Given the description of an element on the screen output the (x, y) to click on. 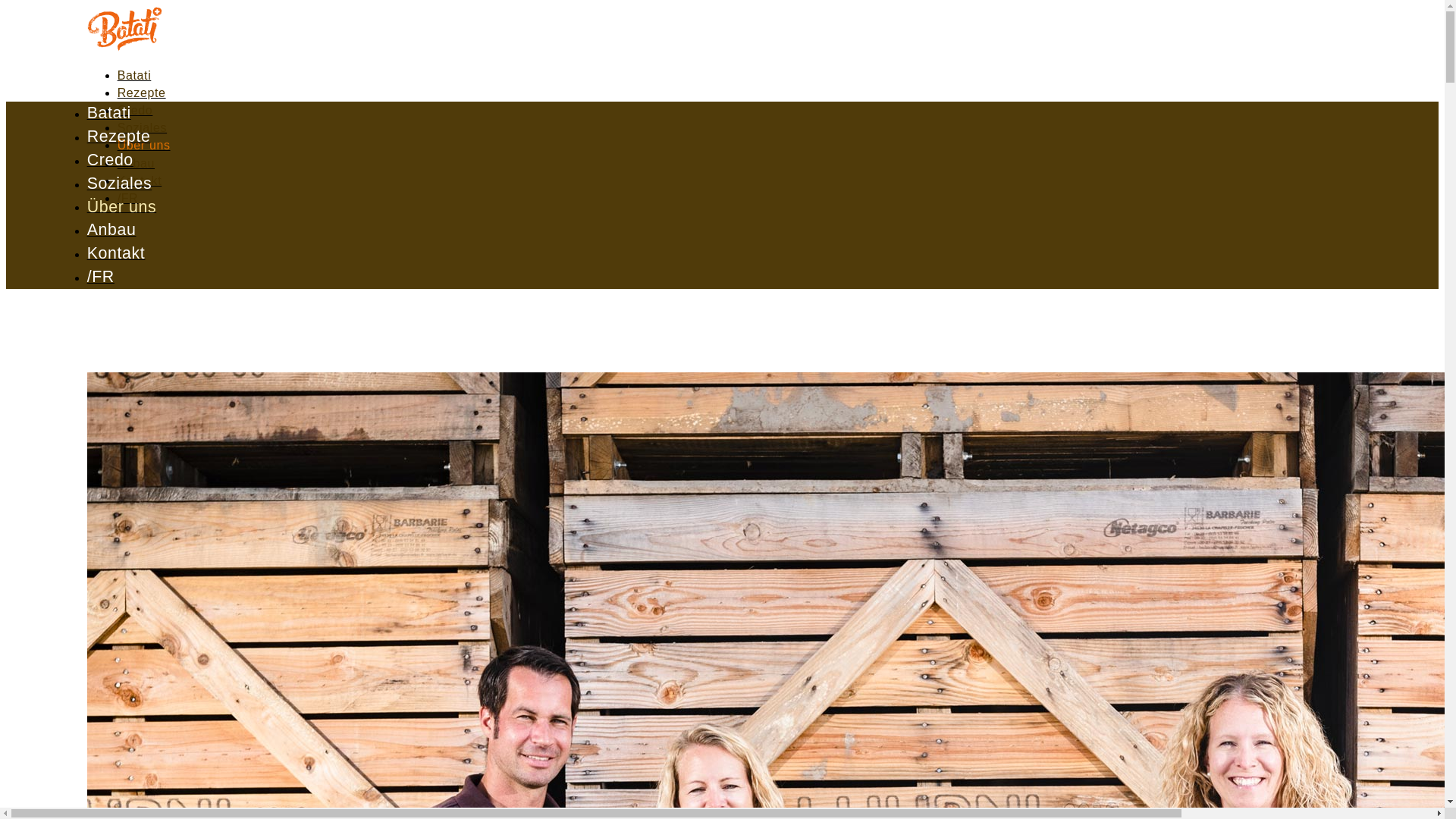
Batati Element type: text (134, 75)
Soziales Element type: text (141, 127)
Batati Element type: text (109, 113)
/FR Element type: text (100, 277)
/FR Element type: text (127, 197)
Rezepte Element type: text (118, 137)
Anbau Element type: text (135, 162)
Kontakt Element type: text (139, 180)
Batati Element type: hover (125, 46)
Anbau Element type: text (111, 230)
Credo Element type: text (135, 109)
Credo Element type: text (110, 160)
Kontakt Element type: text (116, 254)
Rezepte Element type: text (141, 92)
Soziales Element type: text (119, 184)
